Given the description of an element on the screen output the (x, y) to click on. 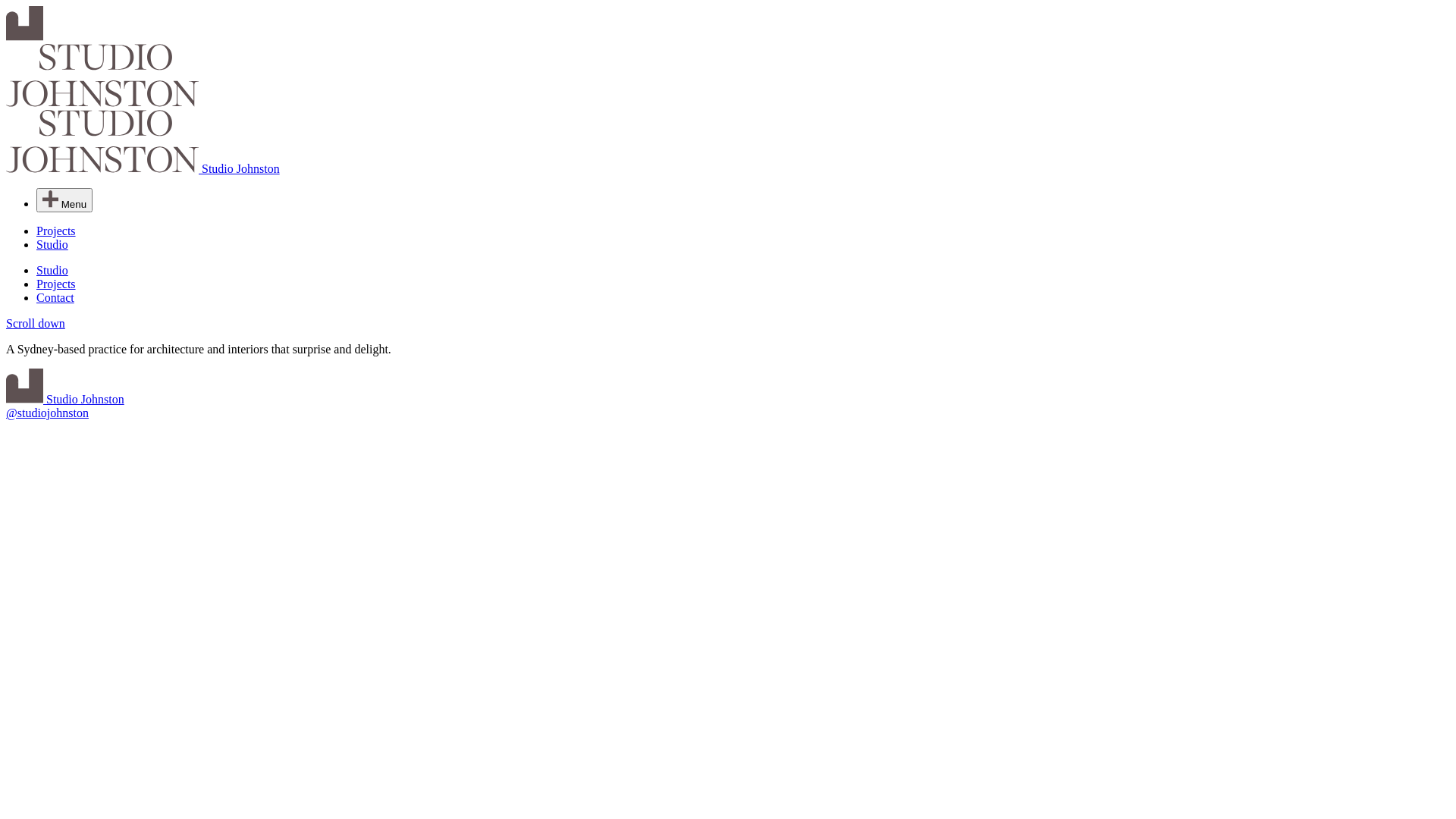
Scroll down Element type: text (35, 322)
Menu Element type: text (64, 200)
Contact Element type: text (55, 297)
Projects Element type: text (55, 283)
Studio Element type: text (52, 269)
Studio Johnston Element type: text (727, 90)
Studio Johnston Element type: text (65, 398)
Projects Element type: text (55, 230)
@studiojohnston Element type: text (47, 412)
Studio Element type: text (52, 244)
